Given the description of an element on the screen output the (x, y) to click on. 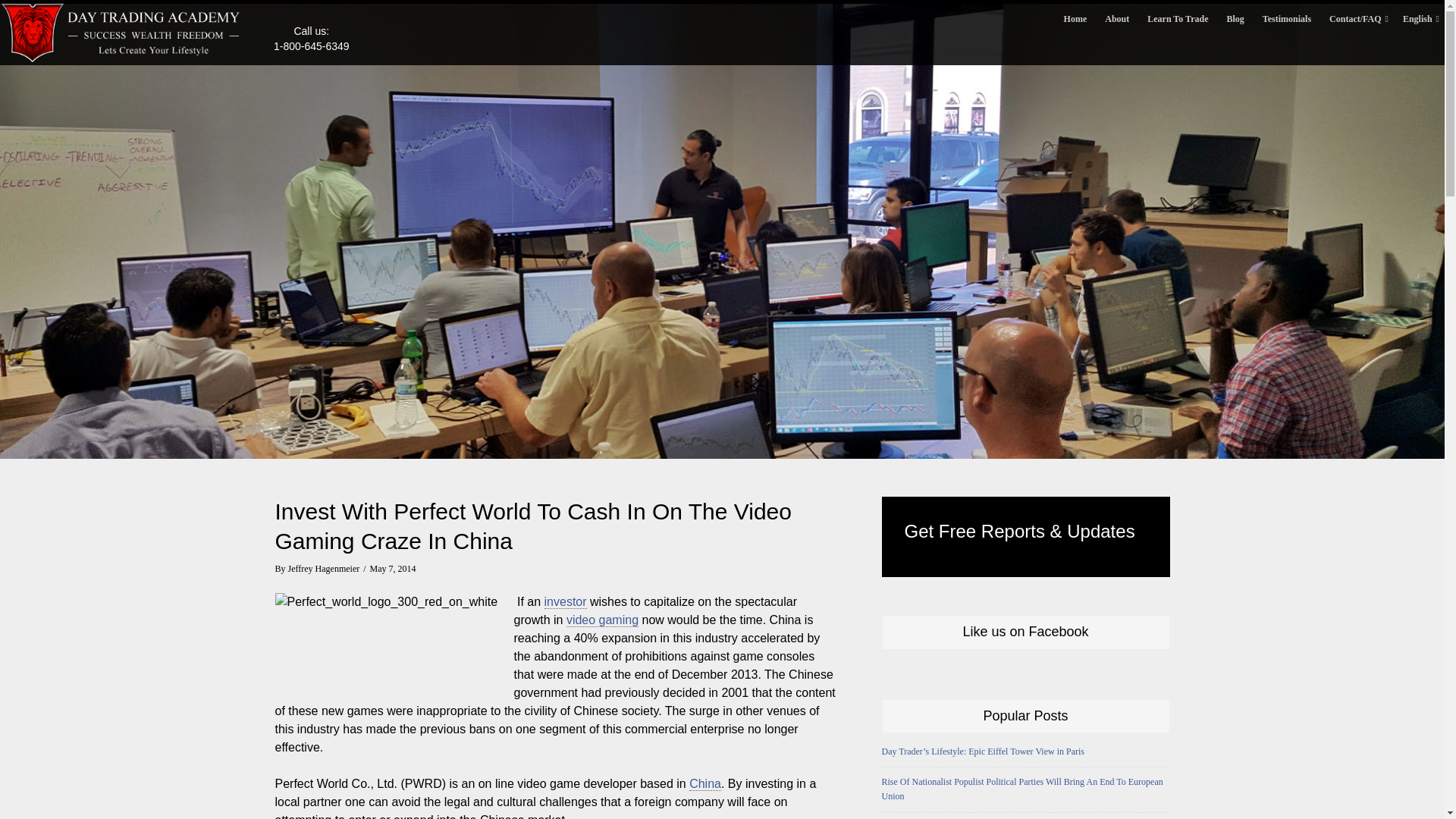
Testimonials (1286, 18)
About (1117, 18)
video gaming (602, 620)
Learn To Trade (1177, 18)
Home (1075, 18)
Global Investing (565, 602)
investor (565, 602)
China (704, 784)
Blog (1234, 18)
Invest in China (704, 784)
